Given the description of an element on the screen output the (x, y) to click on. 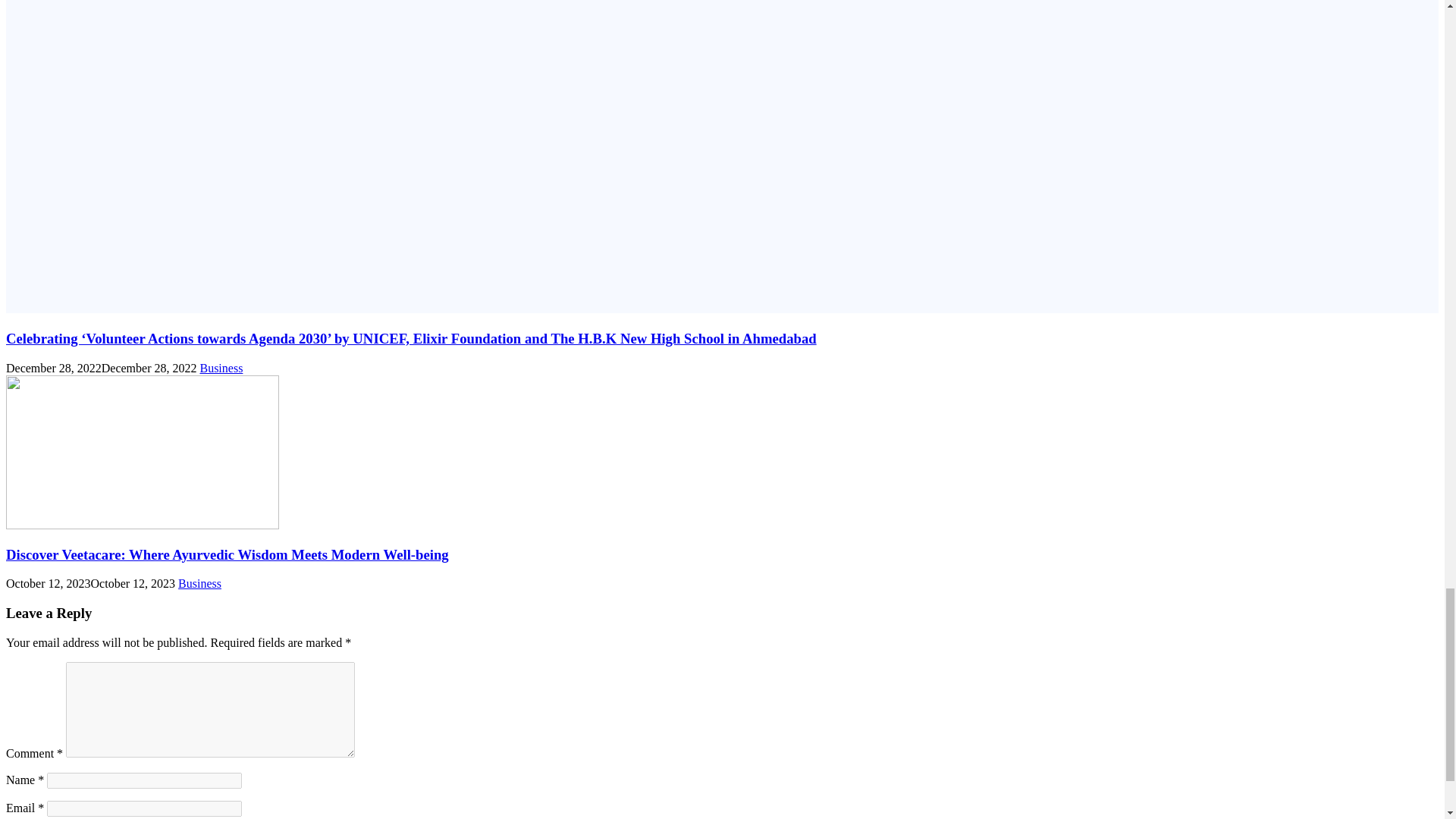
Business (199, 583)
Business (221, 367)
